Given the description of an element on the screen output the (x, y) to click on. 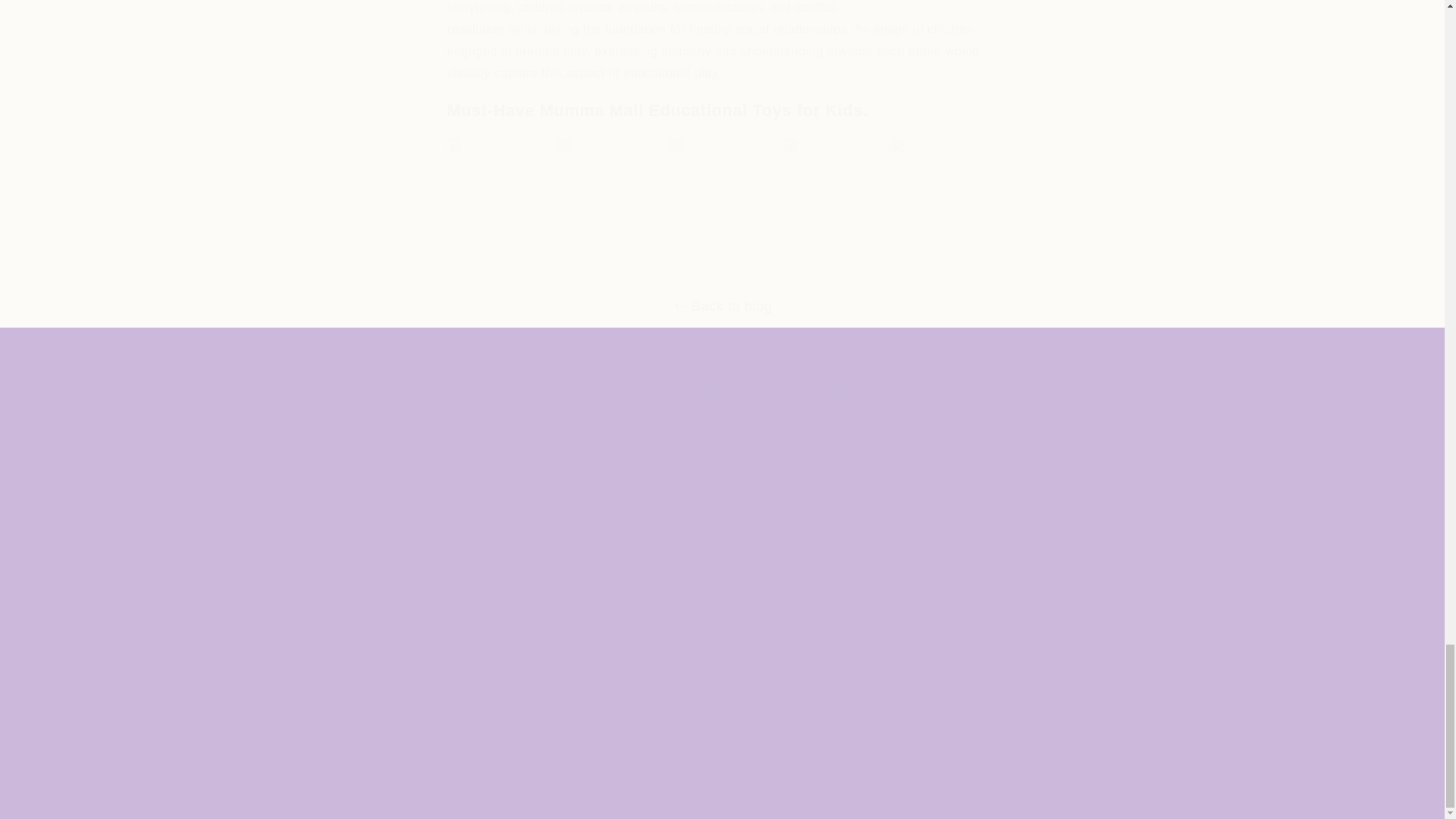
Subscribe To Our Email (721, 616)
Email (721, 398)
